Given the description of an element on the screen output the (x, y) to click on. 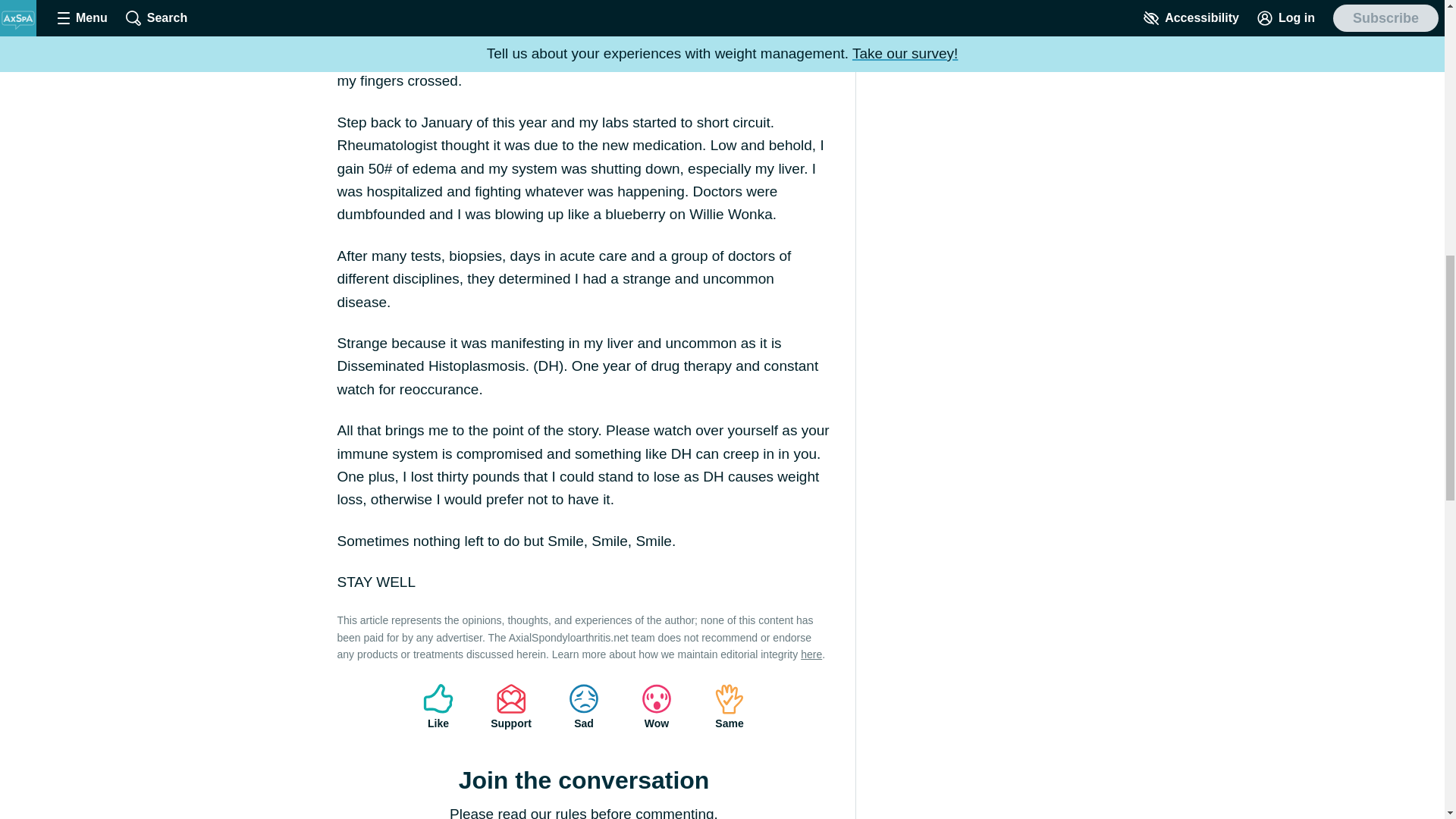
read our rules (541, 812)
Sad (583, 706)
Same (729, 706)
Wow (656, 706)
Support (510, 706)
here (811, 654)
Like (437, 706)
